Given the description of an element on the screen output the (x, y) to click on. 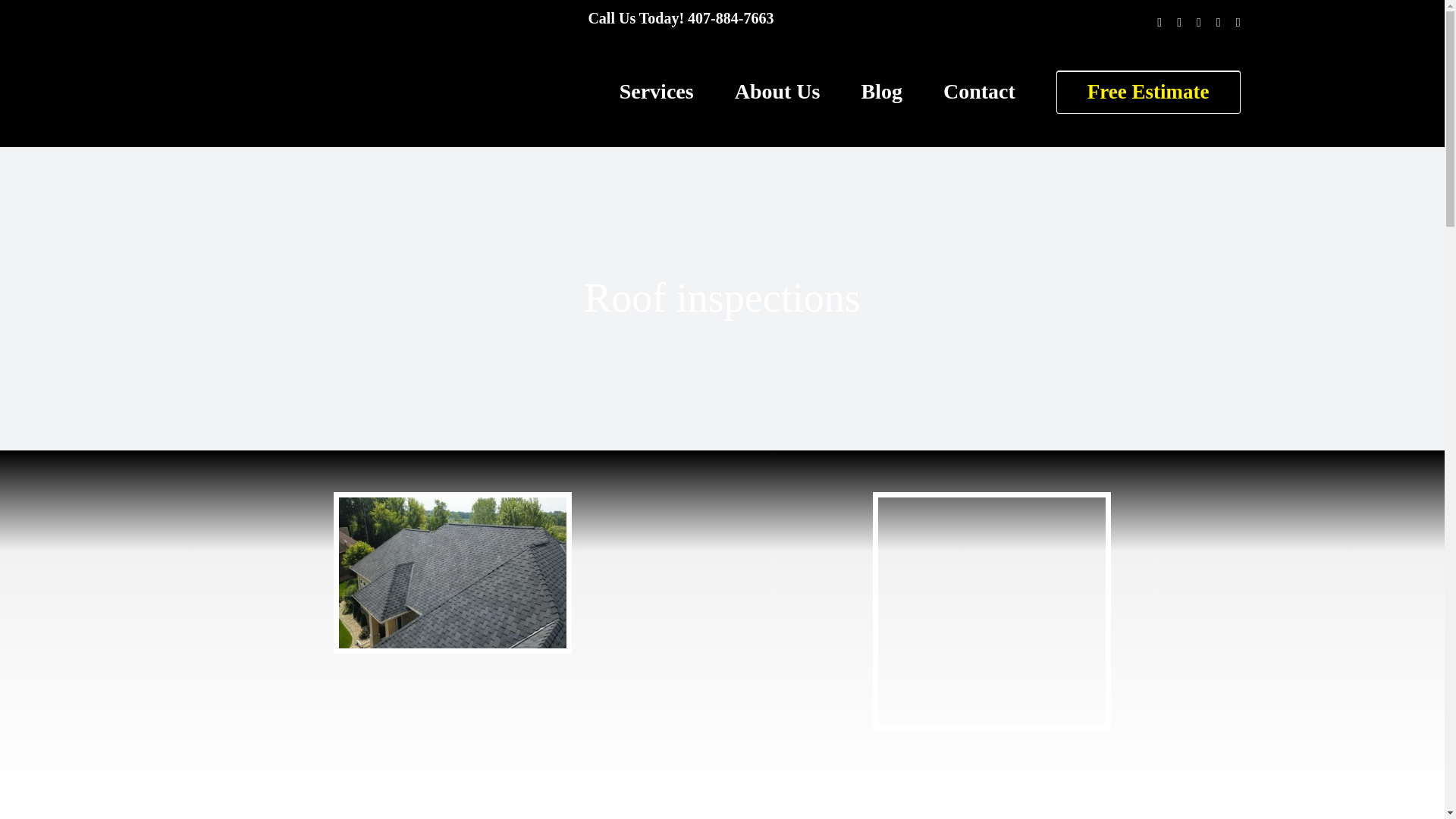
Contact (978, 91)
Services (657, 91)
Free Estimate (1148, 91)
About Us (778, 91)
